Given the description of an element on the screen output the (x, y) to click on. 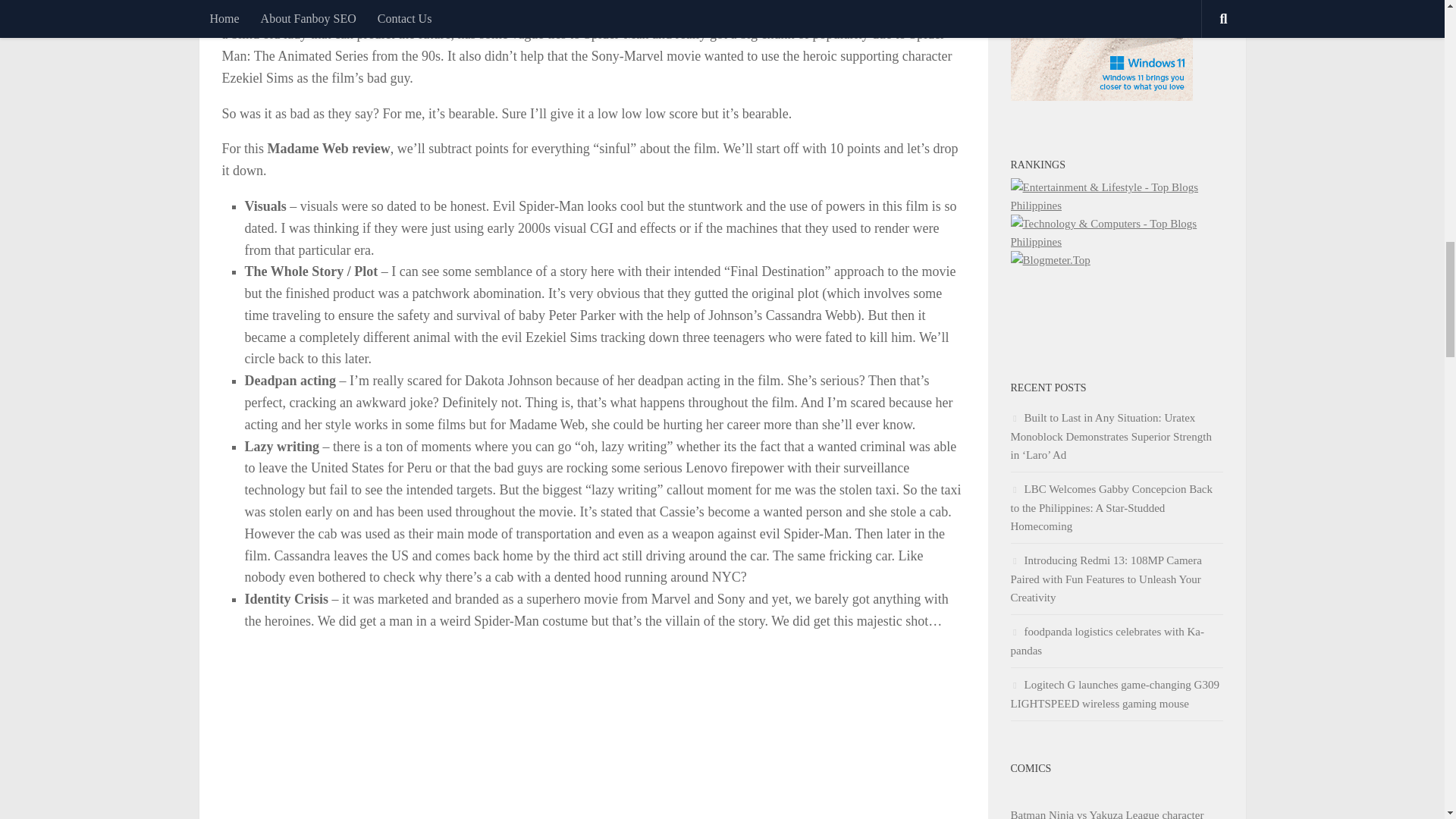
Morbius (355, 11)
